Given the description of an element on the screen output the (x, y) to click on. 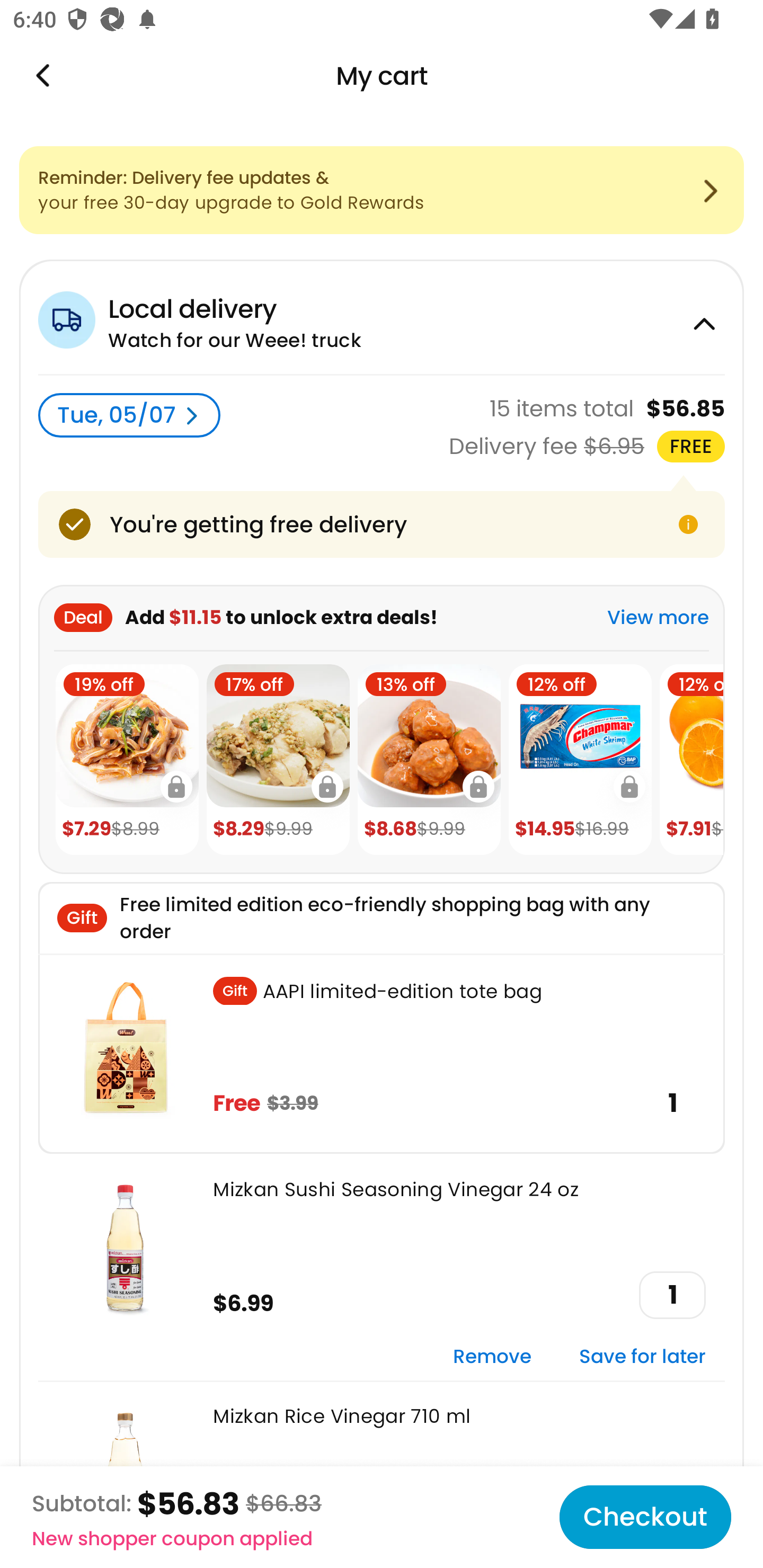
Local delivery Watch for our Weee! truck (381, 317)
Tue, 05/07 (129, 415)
You're getting free delivery (381, 524)
19% off $7.29 $8.99 (126, 759)
17% off $8.29 $9.99 (277, 759)
13% off $8.68 $9.99 (428, 759)
12% off $14.95 $16.99 (579, 759)
. AAPI limited-edition tote bag Free $3.99 1 (381, 1053)
1 (672, 1294)
Remove (491, 1356)
Save for later (642, 1356)
Checkout (644, 1516)
